Given the description of an element on the screen output the (x, y) to click on. 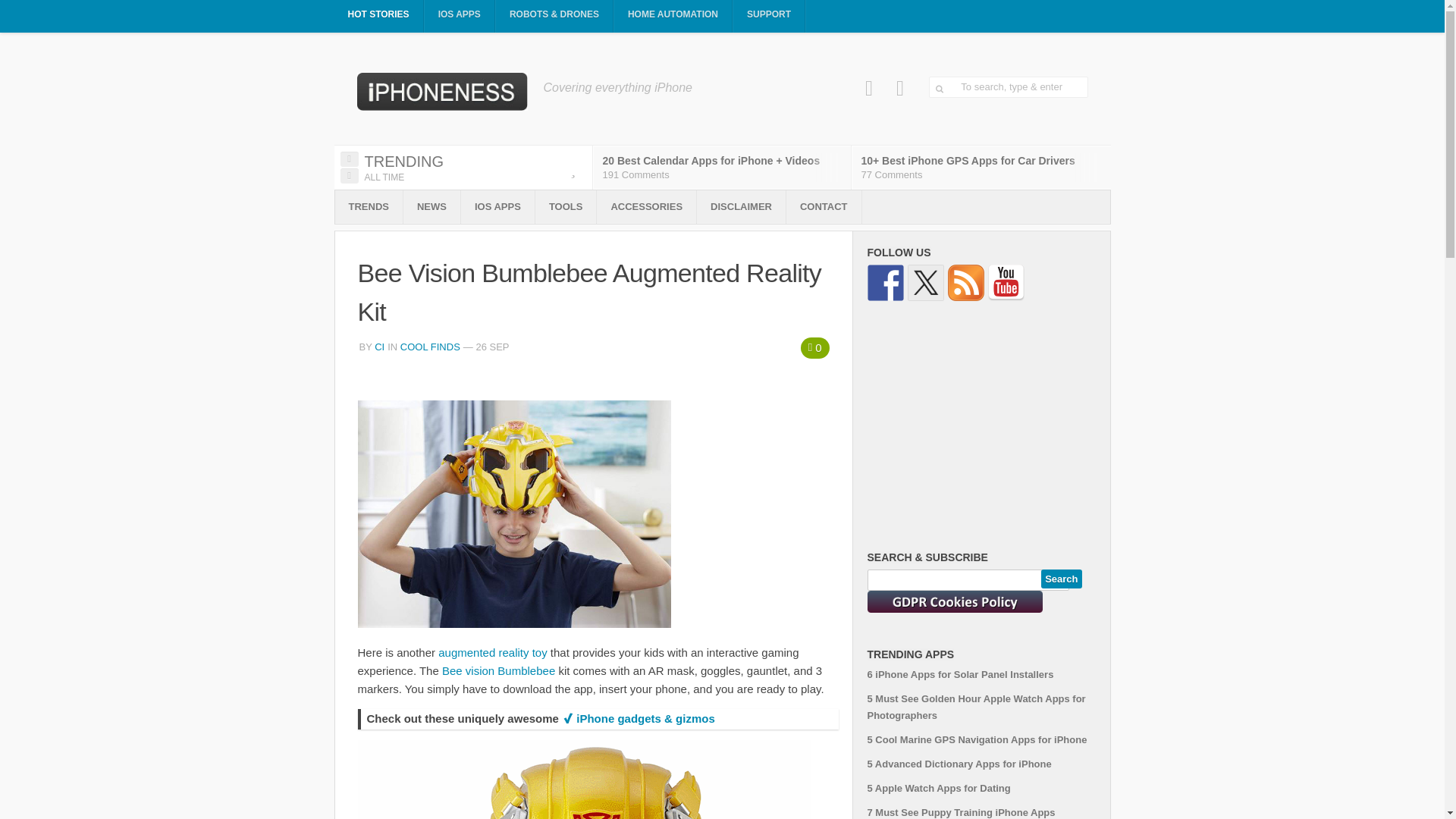
SUPPORT (769, 16)
Pinterest (900, 87)
Facebook (869, 87)
TRENDS (368, 206)
HOT STORIES (377, 16)
Search (1061, 578)
IOS APPS (460, 16)
HOME AUTOMATION (673, 16)
NEWS (431, 206)
